Given the description of an element on the screen output the (x, y) to click on. 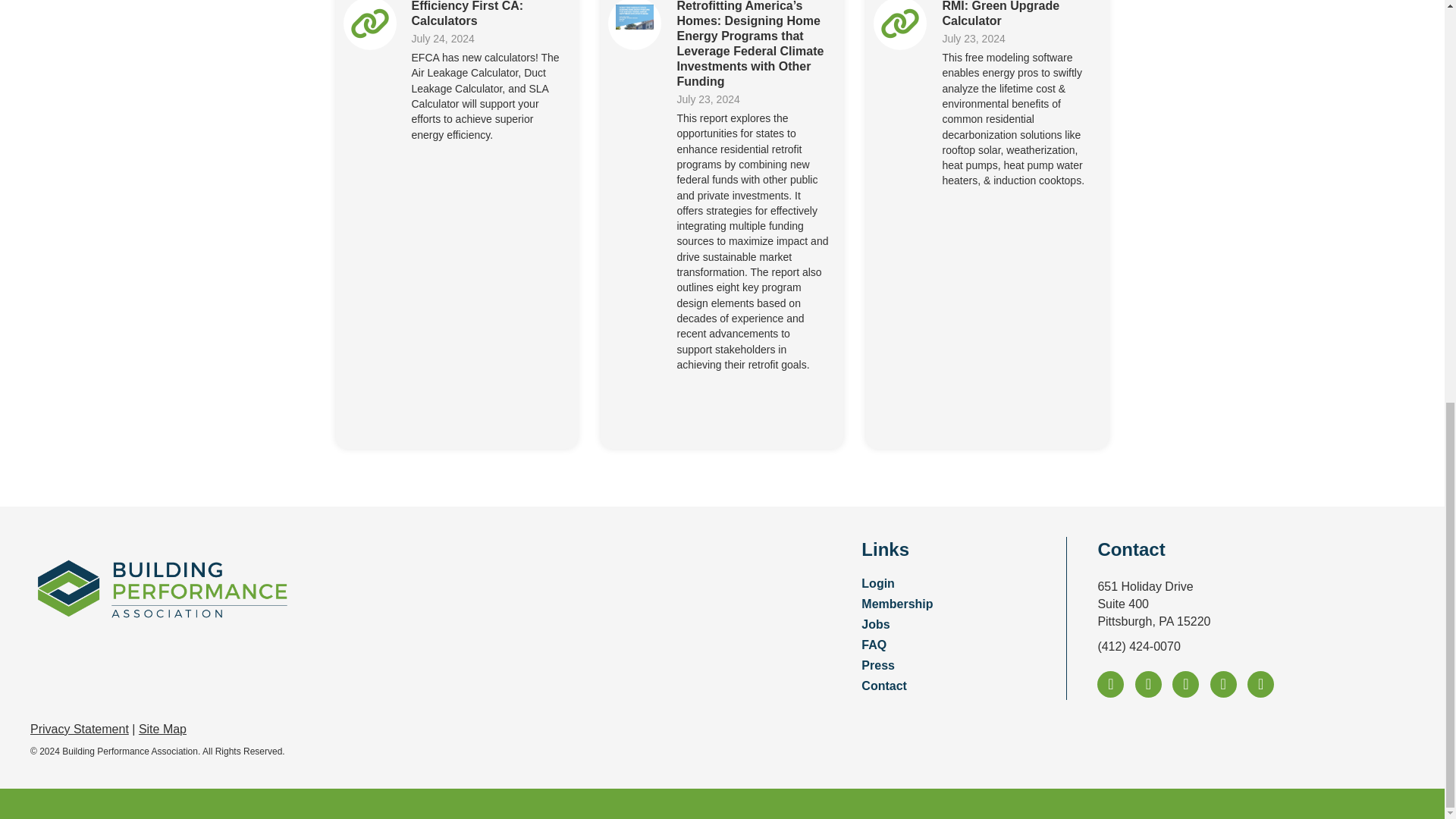
Efficiency First CA: Calculators (369, 22)
RMI: Green Upgrade Calculator (1000, 13)
RMI: Green Upgrade Calculator (899, 22)
Efficiency First CA: Calculators (466, 13)
